Given the description of an element on the screen output the (x, y) to click on. 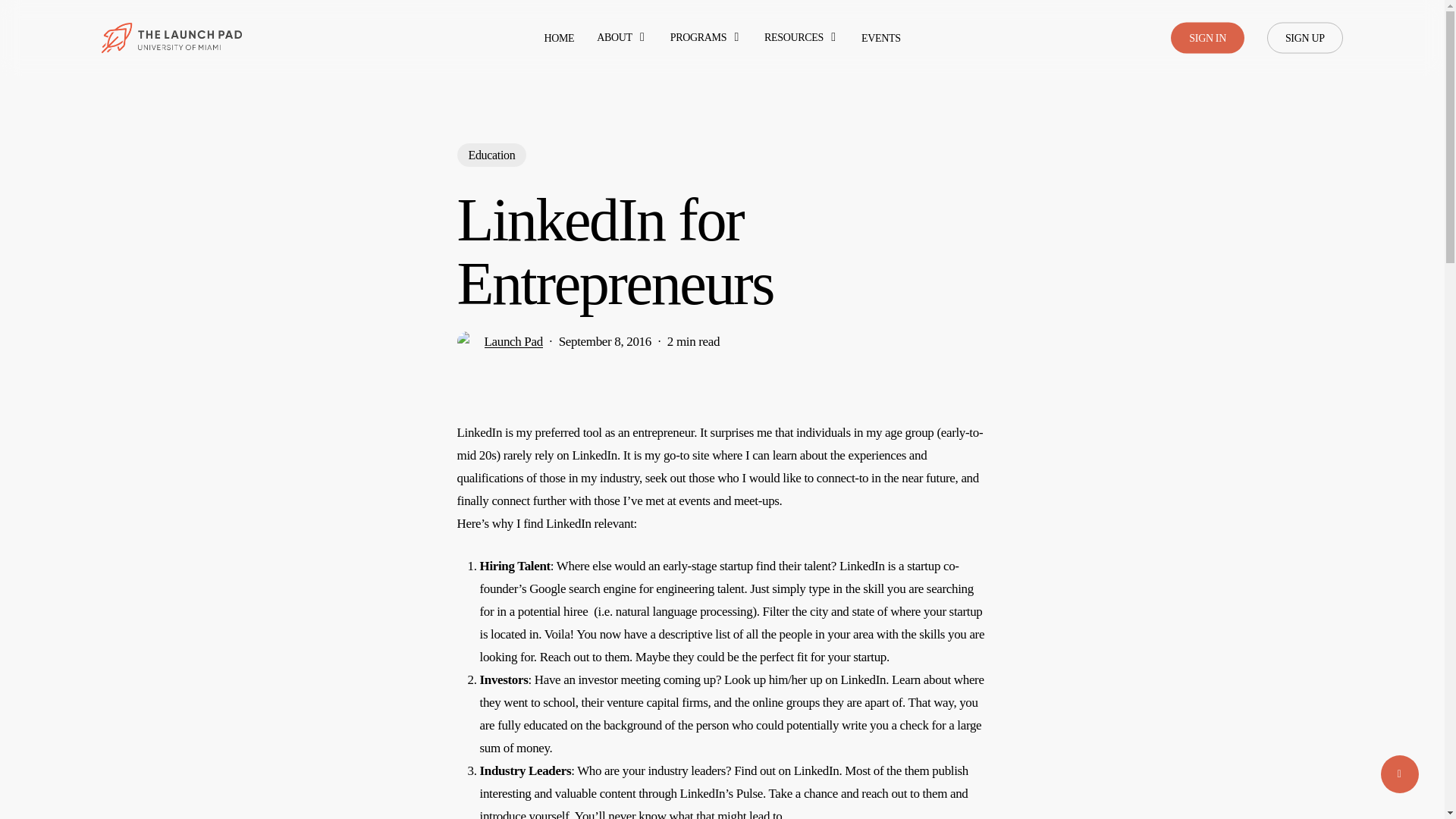
Education (491, 155)
PROGRAMS (705, 38)
Posts by Launch Pad (512, 341)
SIGN IN (1207, 38)
RESOURCES (801, 38)
HOME (558, 38)
SIGN UP (1304, 38)
EVENTS (881, 38)
Launch Pad (512, 341)
ABOUT (621, 38)
